Given the description of an element on the screen output the (x, y) to click on. 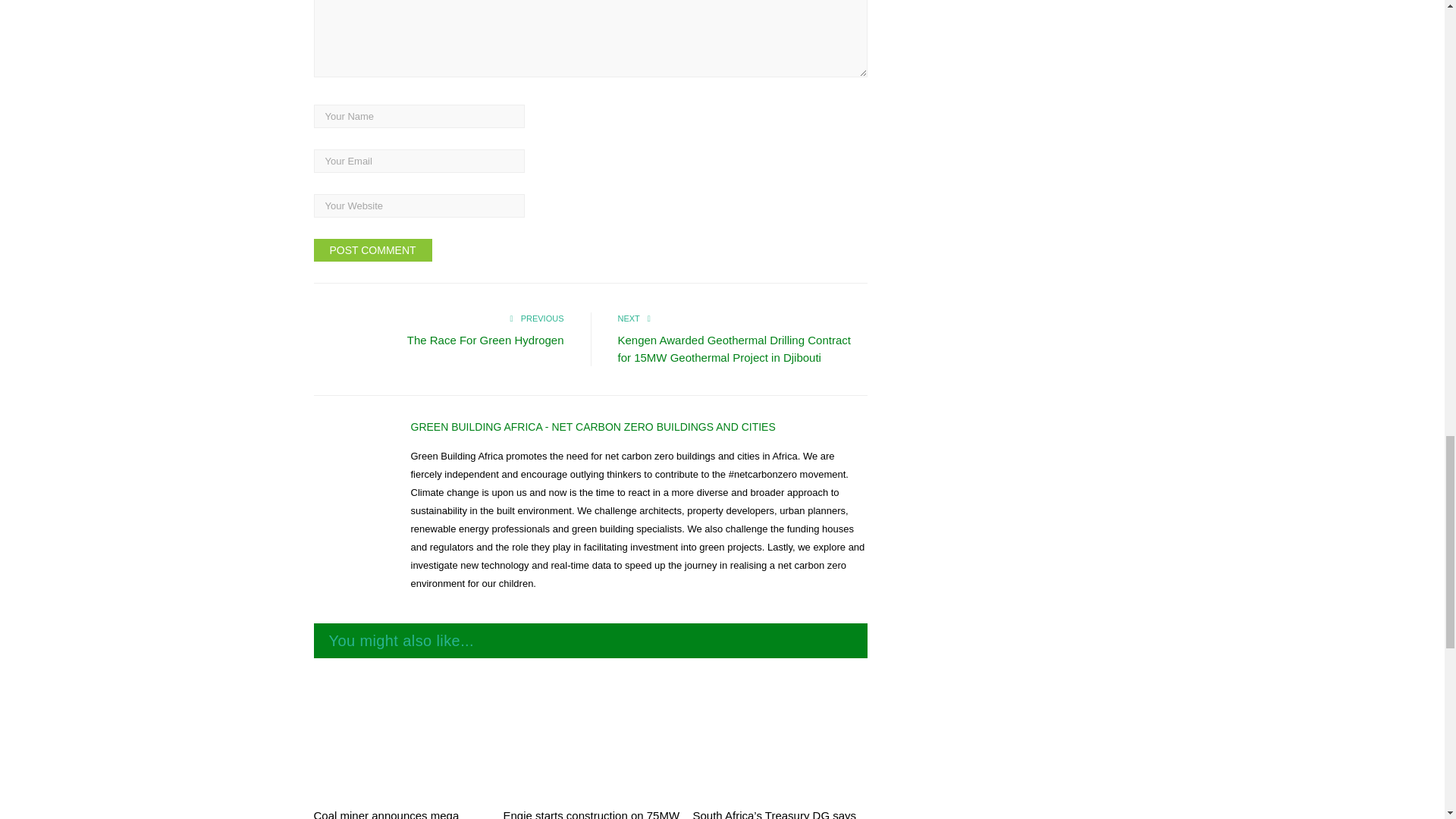
Post Comment (373, 250)
